Given the description of an element on the screen output the (x, y) to click on. 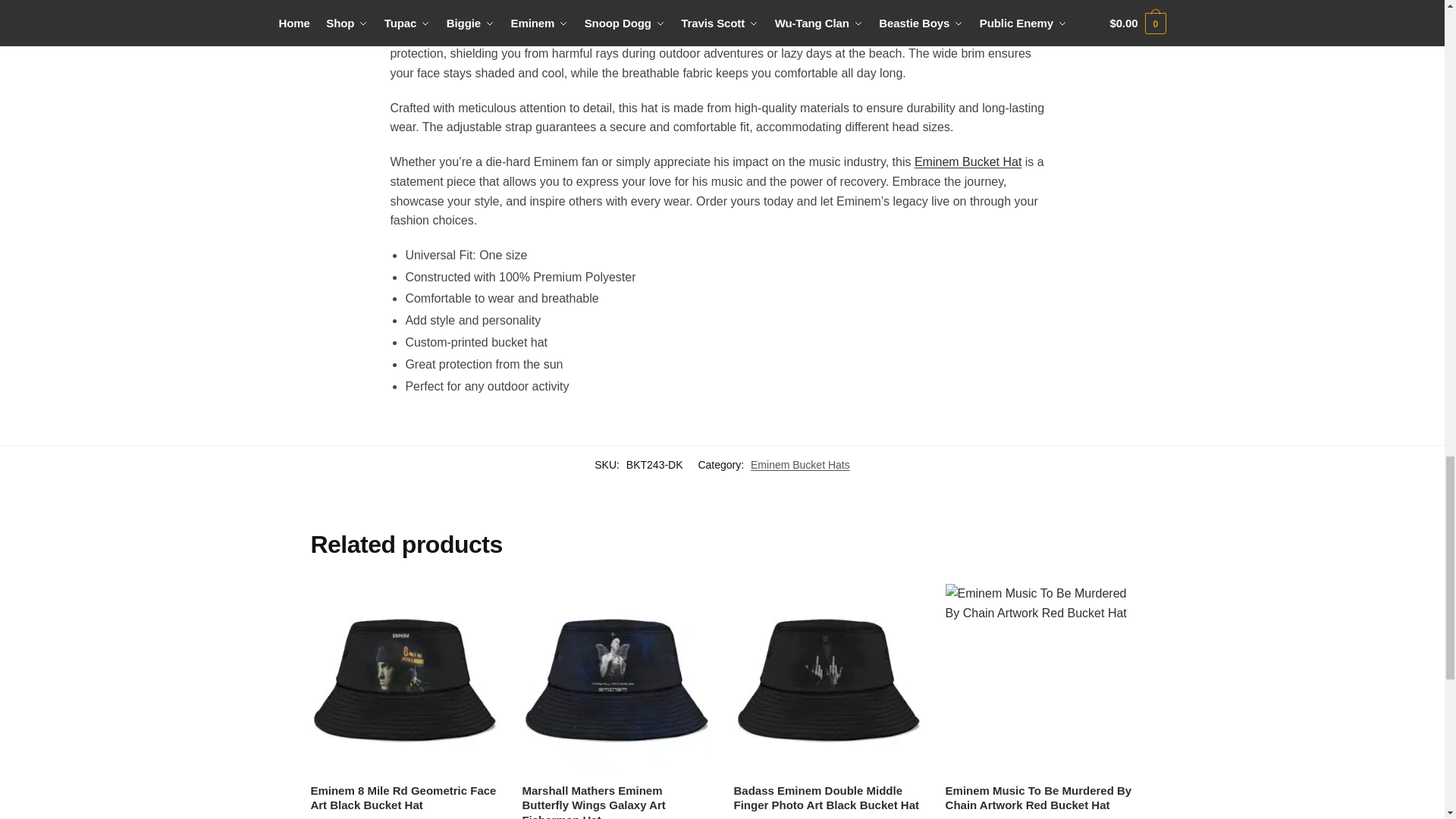
Eminem Music To Be Murdered By Chain Artwork Red Bucket Hat (1039, 678)
Eminem 8 Mile Rd Geometric Face Art Black Bucket Hat (404, 678)
